Given the description of an element on the screen output the (x, y) to click on. 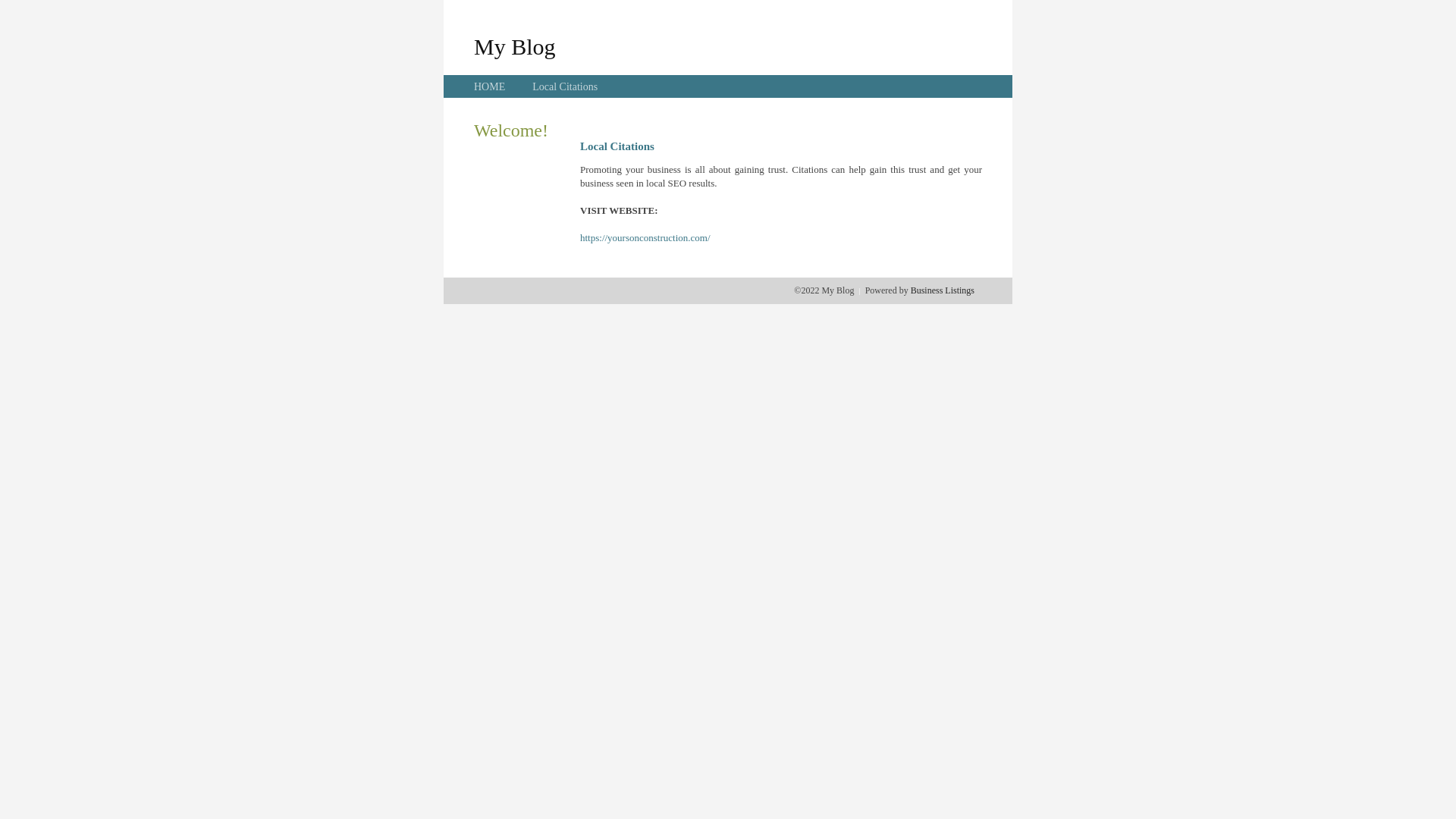
HOME Element type: text (489, 86)
Local Citations Element type: text (564, 86)
https://yoursonconstruction.com/ Element type: text (645, 237)
My Blog Element type: text (514, 46)
Business Listings Element type: text (942, 290)
